Given the description of an element on the screen output the (x, y) to click on. 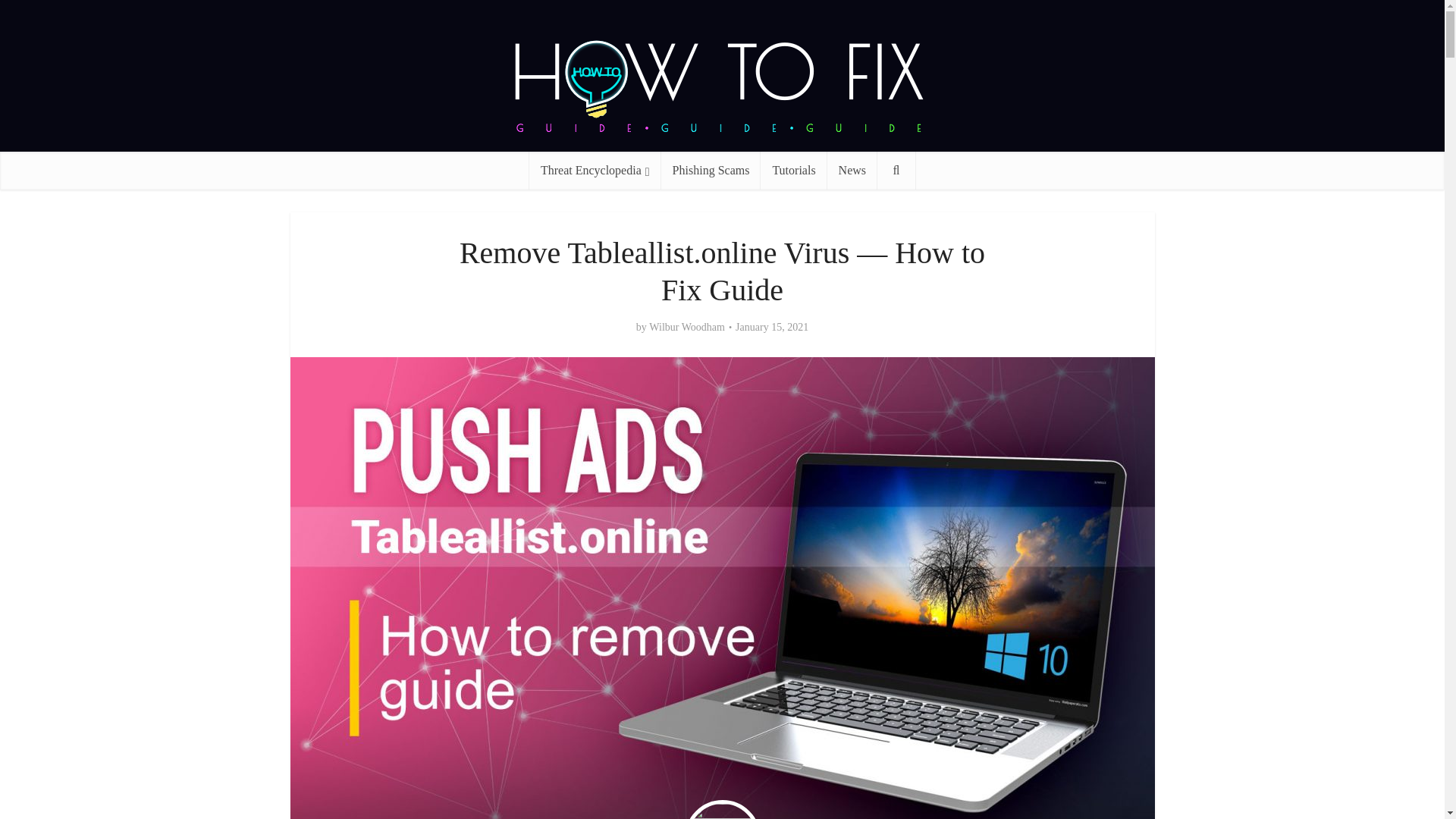
Tutorials (793, 170)
News (852, 170)
Threat Encyclopedia (595, 170)
Wilbur Woodham (687, 327)
Phishing Scams (711, 170)
